Given the description of an element on the screen output the (x, y) to click on. 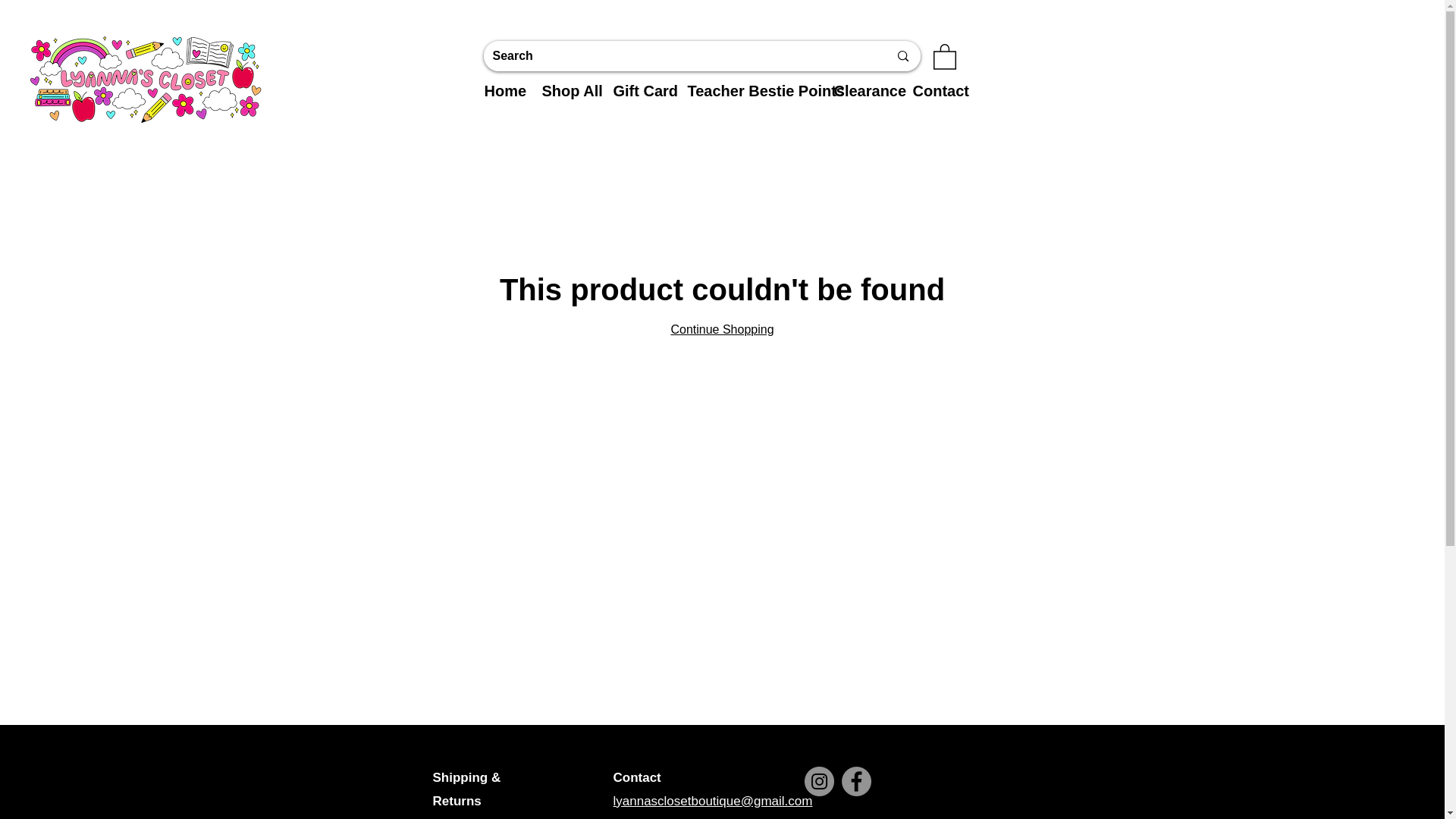
Teacher Bestie Points (749, 90)
Contact (636, 777)
Shop All (566, 90)
Gift Card (639, 90)
Store Policy (466, 817)
Contact (933, 90)
Clearance (861, 90)
Home (502, 90)
Continue Shopping (721, 328)
